Given the description of an element on the screen output the (x, y) to click on. 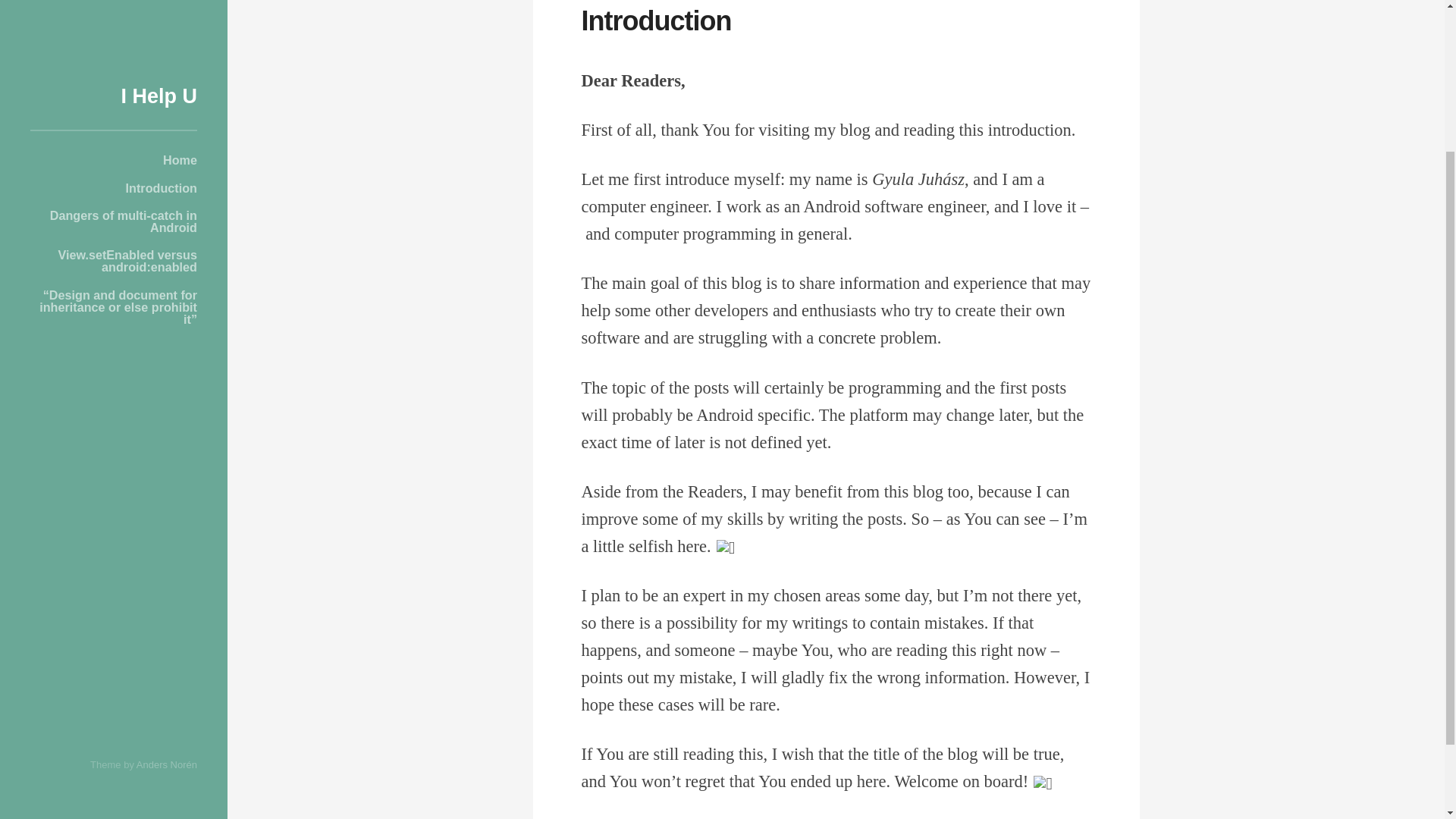
Introduction (655, 20)
View.setEnabled versus android:enabled (113, 65)
Introduction (655, 20)
Dangers of multi-catch in Android (113, 26)
